Given the description of an element on the screen output the (x, y) to click on. 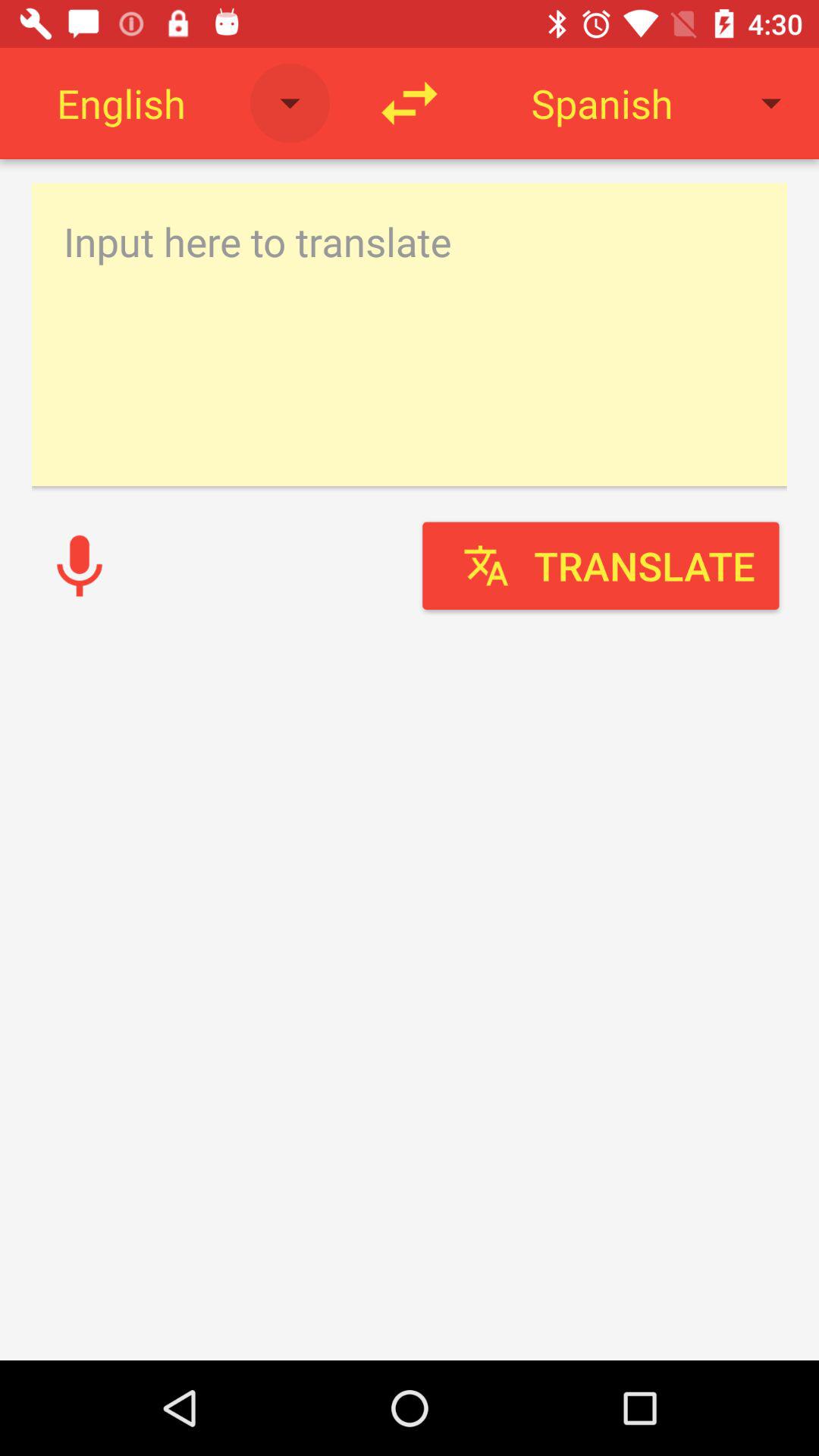
microphone button (79, 565)
